Given the description of an element on the screen output the (x, y) to click on. 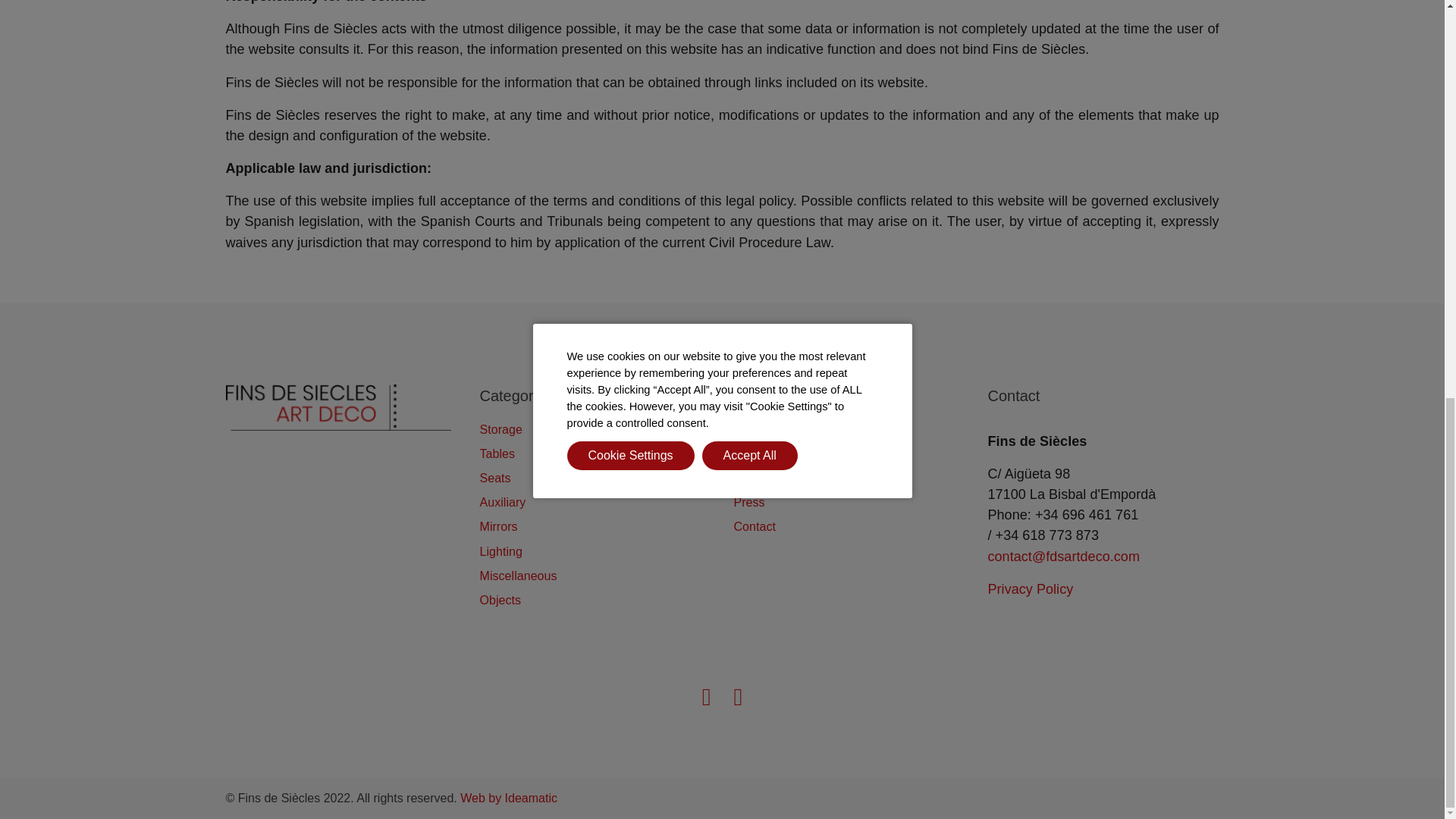
Objects (500, 599)
Press (749, 502)
About us (758, 453)
Privacy Policy (1030, 589)
Web by Ideamatic (508, 797)
Miscellaneous (517, 575)
Auxiliary (502, 502)
Home (750, 429)
Seats (495, 477)
Tables (497, 453)
Privacy Policy (1030, 589)
Contact (754, 526)
Mirrors (497, 526)
Gallery (753, 477)
Web by Ideamatic (508, 797)
